Given the description of an element on the screen output the (x, y) to click on. 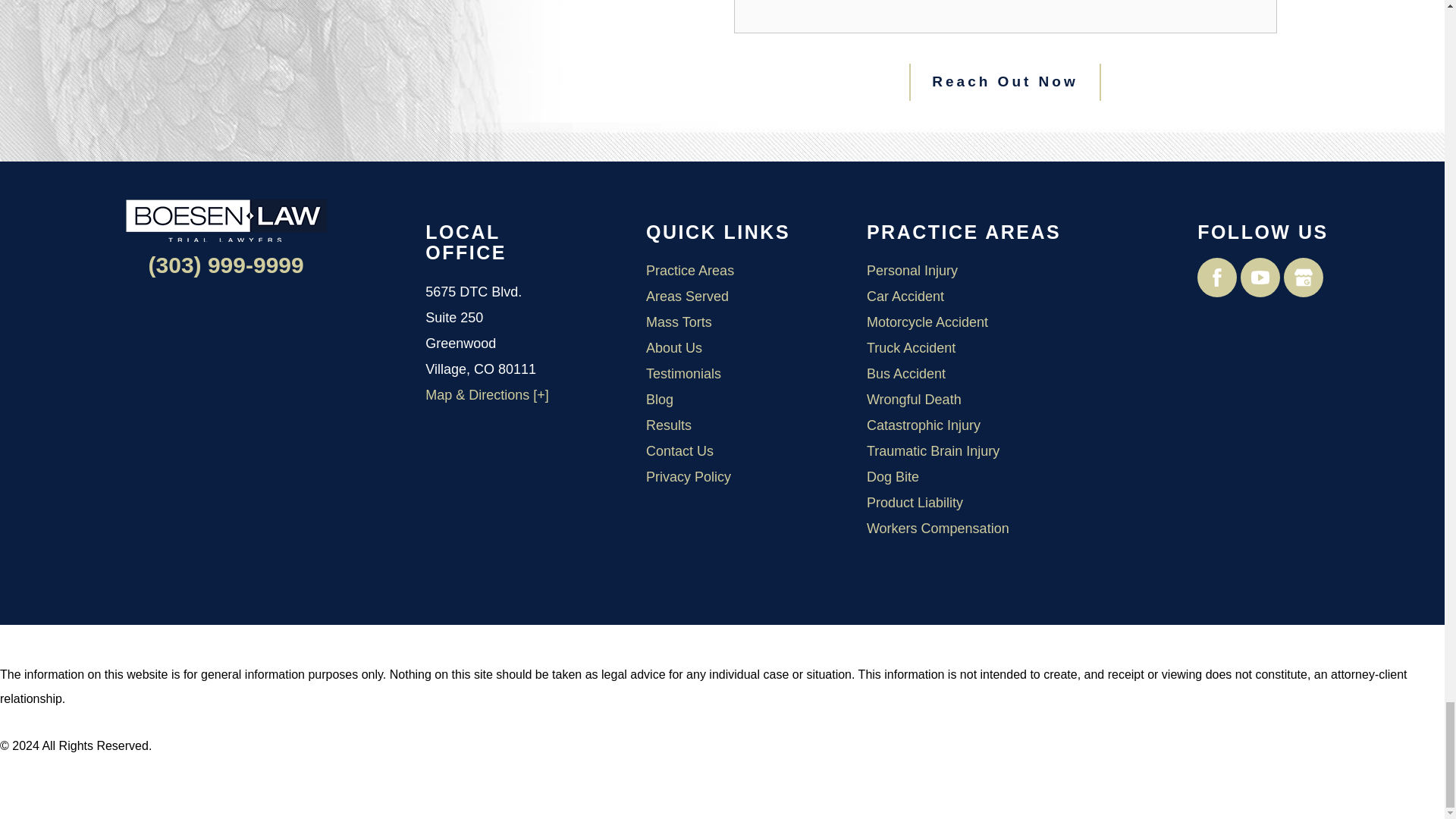
Main Line (226, 264)
